Given the description of an element on the screen output the (x, y) to click on. 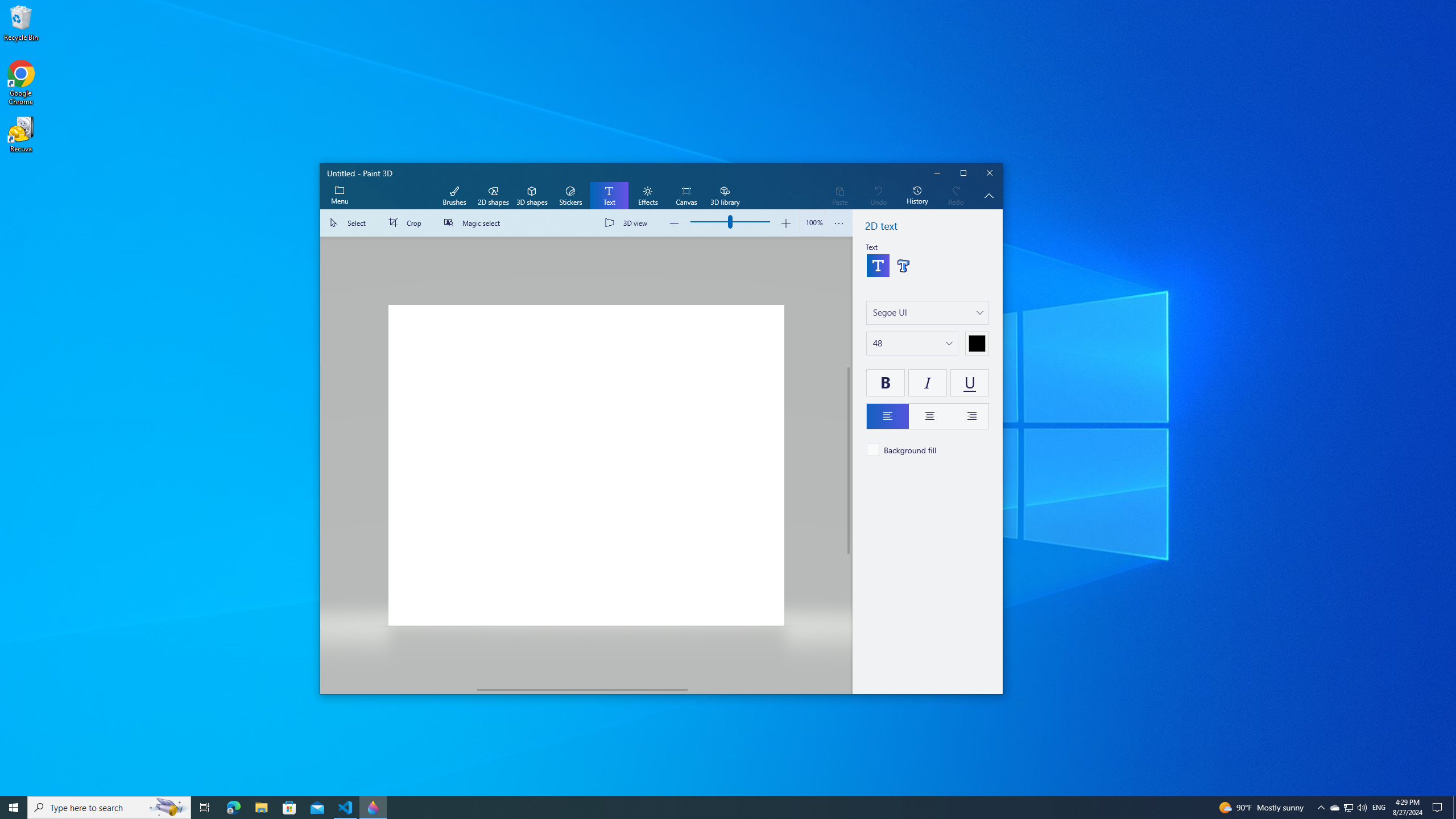
Italicize your text (927, 382)
View more options (839, 222)
Underline your text (969, 382)
3D text (902, 264)
Vertical Large Increase (848, 619)
Paint 3D - 1 running window (373, 807)
History (917, 195)
Horizontal (582, 689)
Segoe UI (890, 311)
